Given the description of an element on the screen output the (x, y) to click on. 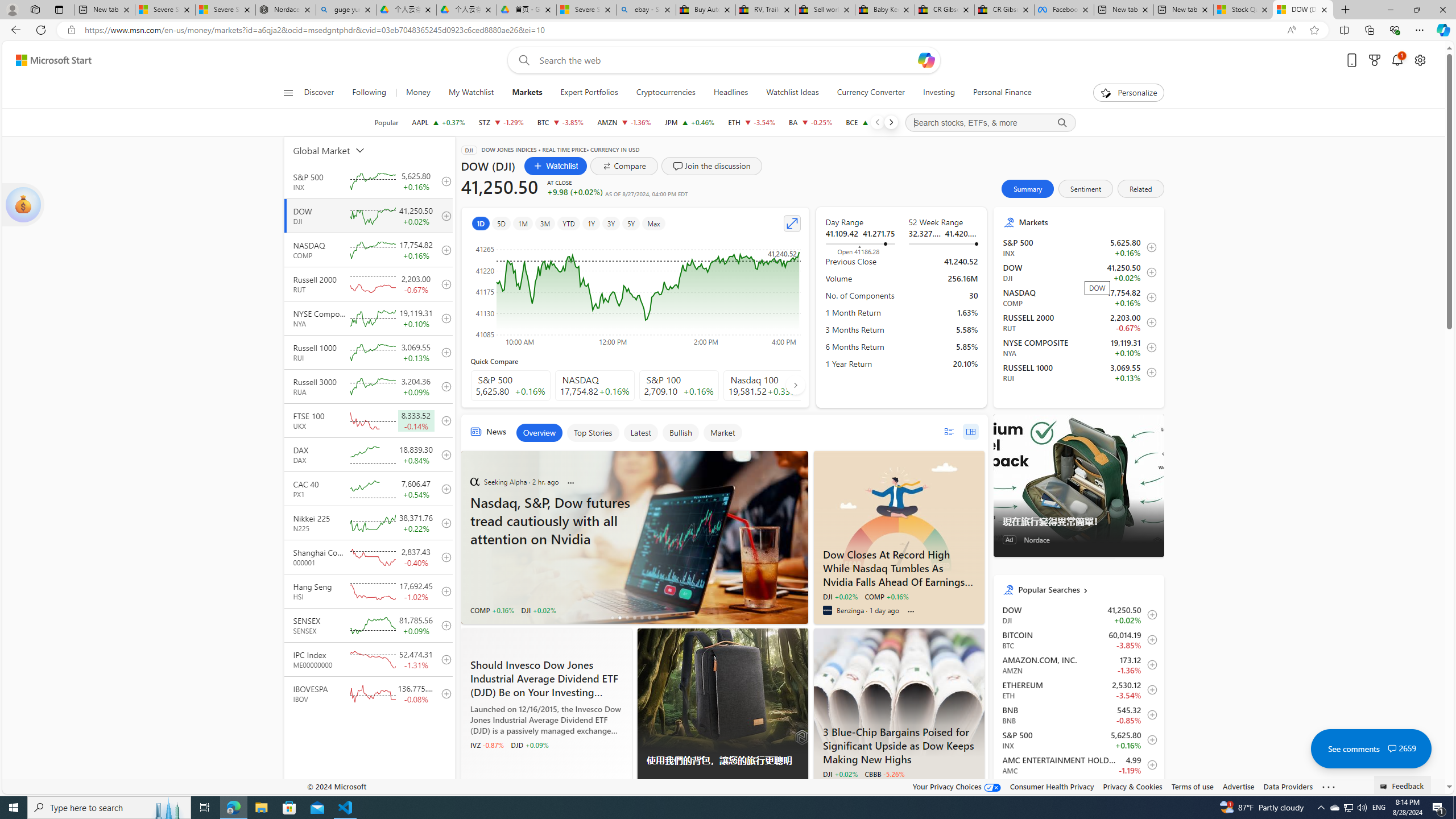
Zacks.com (474, 786)
Markets (526, 92)
Market (722, 432)
Your Privacy Choices (956, 786)
add to your watchlist (442, 693)
